Given the description of an element on the screen output the (x, y) to click on. 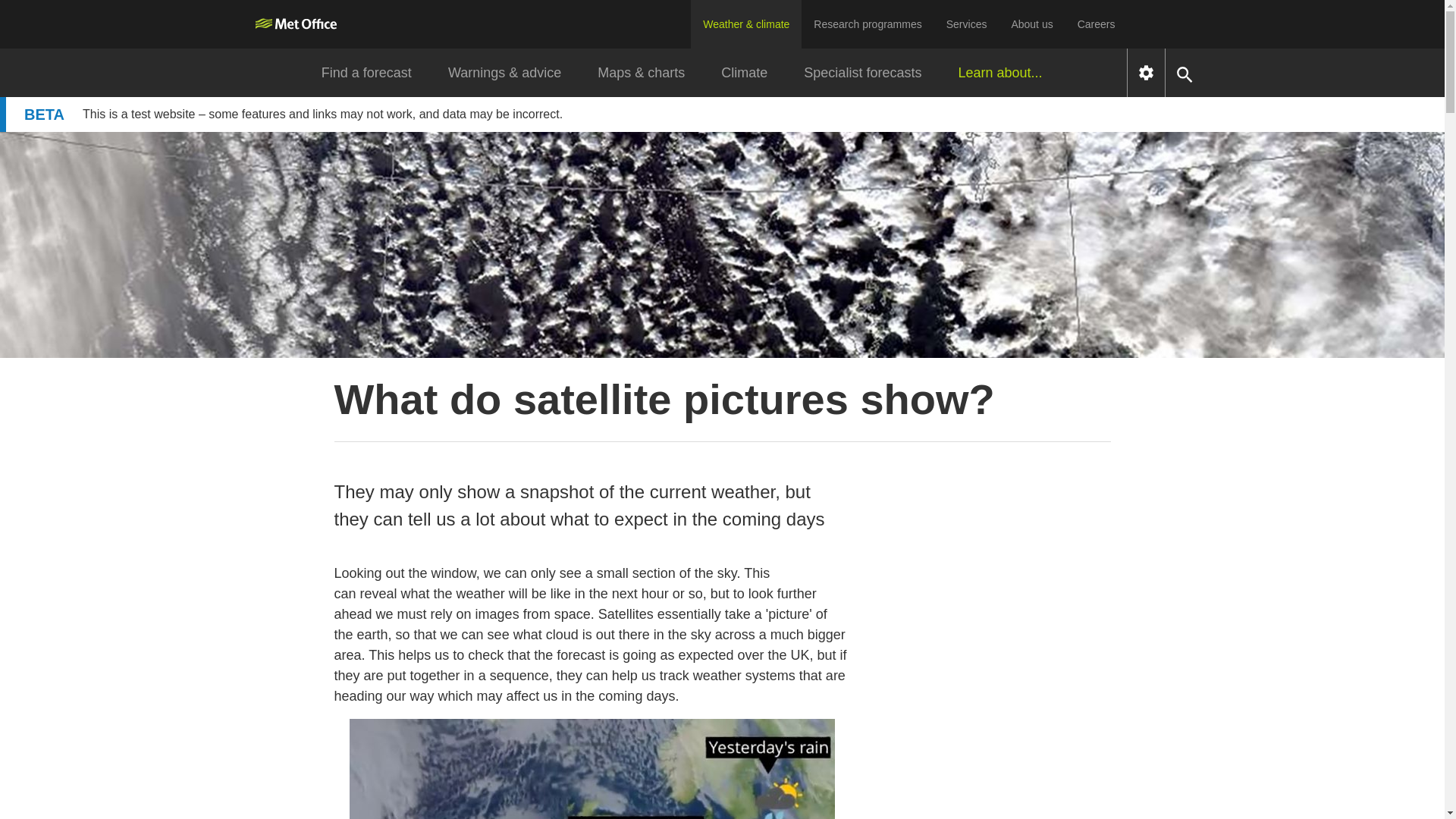
Find a forecast (365, 72)
Services (966, 24)
Research programmes (867, 24)
Careers (1095, 24)
Expand search (1184, 73)
About us (1031, 24)
Settings (1145, 72)
Climate (744, 72)
